Given the description of an element on the screen output the (x, y) to click on. 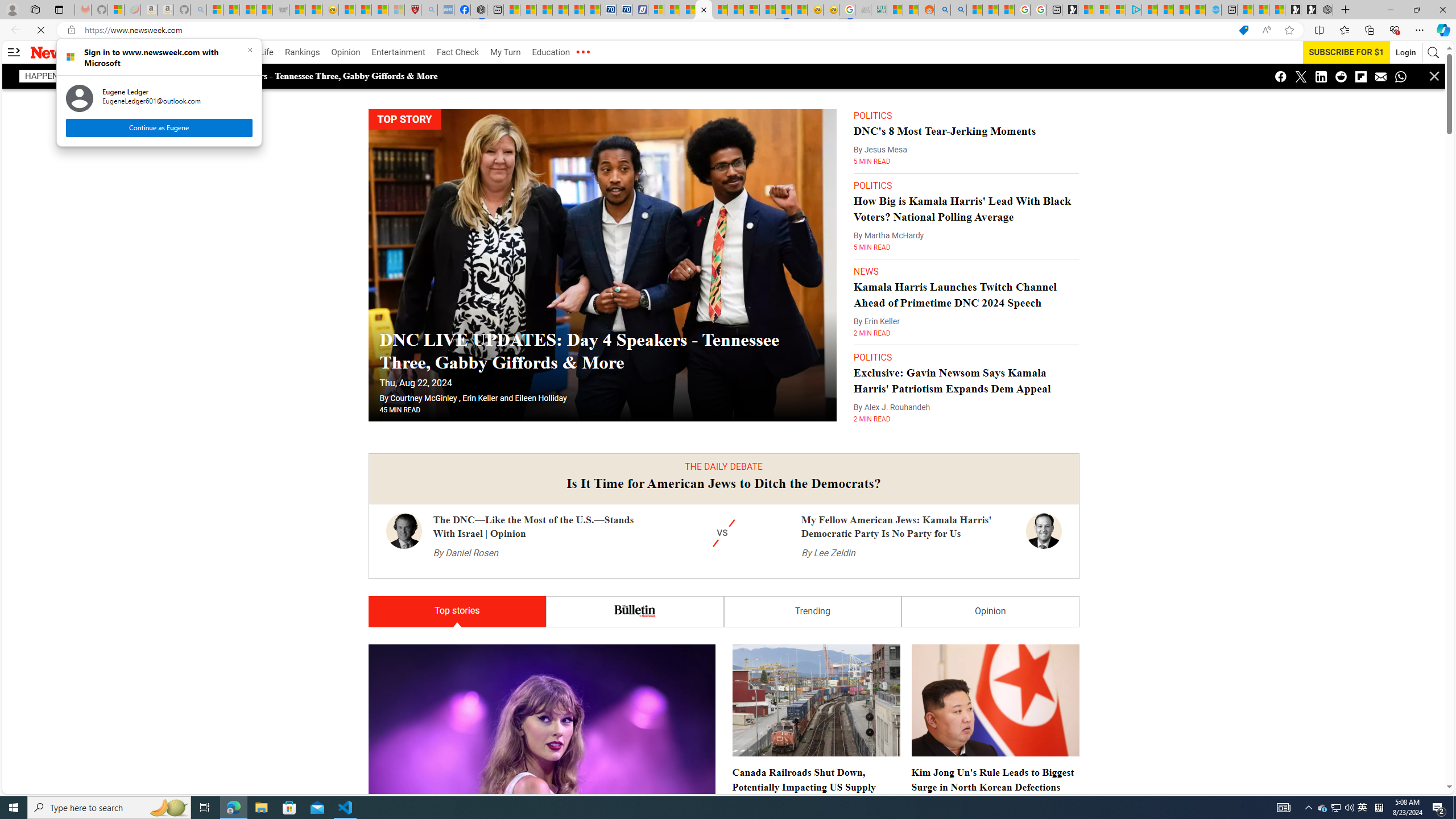
Action Center, 2 new notifications (1439, 807)
Q2790: 100% (1362, 807)
list of asthma inhalers uk - Search - Sleeping (1349, 807)
